Given the description of an element on the screen output the (x, y) to click on. 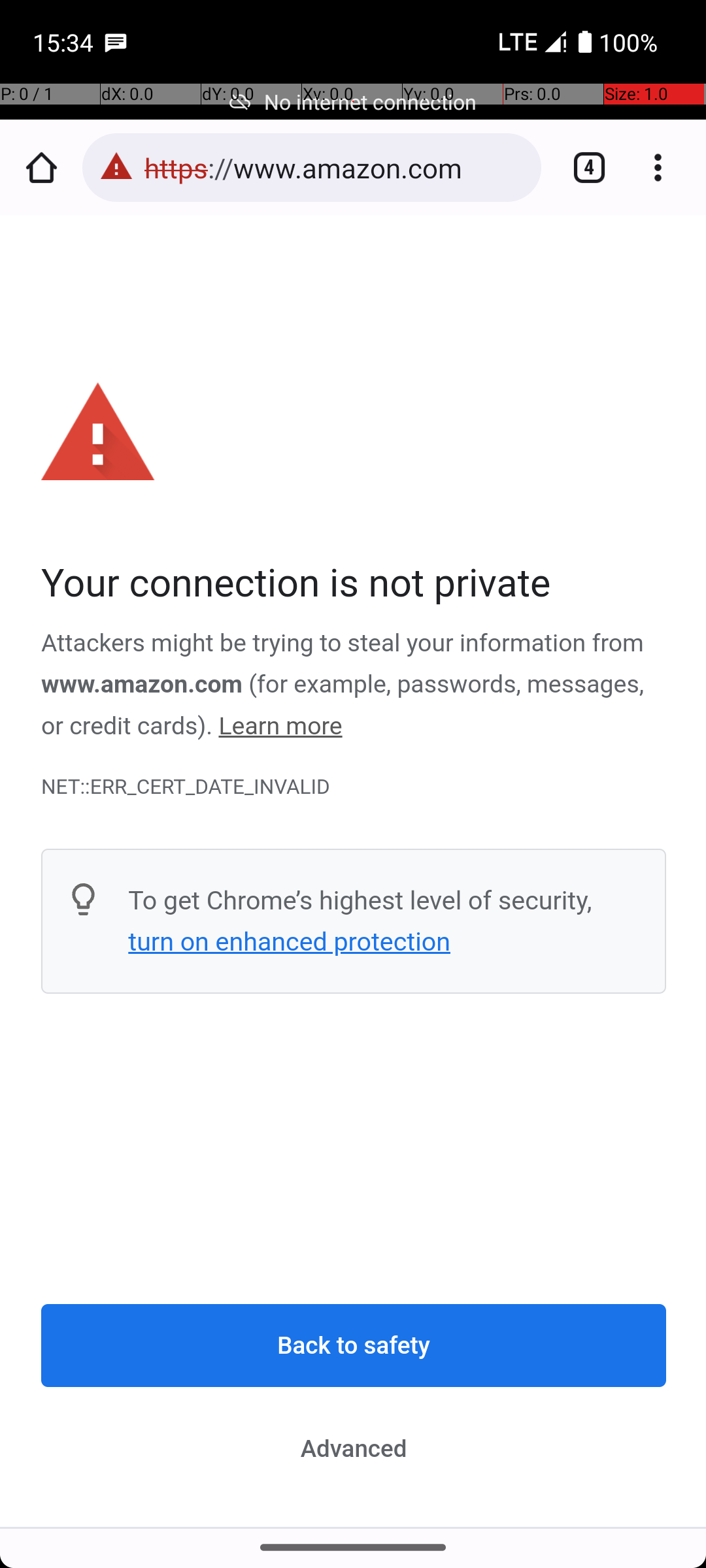
https://www.amazon.com Element type: android.widget.EditText (335, 167)
www.amazon.com Element type: android.widget.TextView (142, 684)
